Given the description of an element on the screen output the (x, y) to click on. 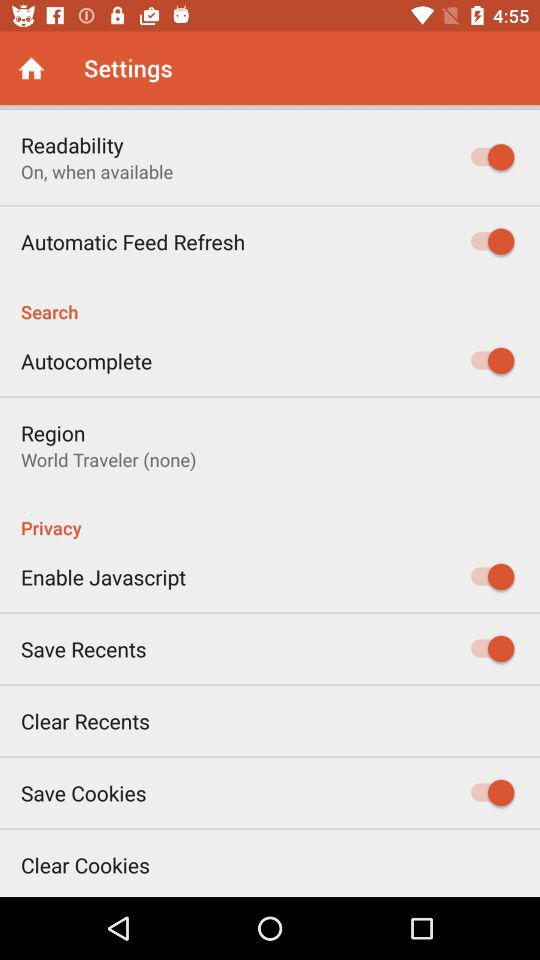
turn on the enable javascript icon (103, 576)
